Given the description of an element on the screen output the (x, y) to click on. 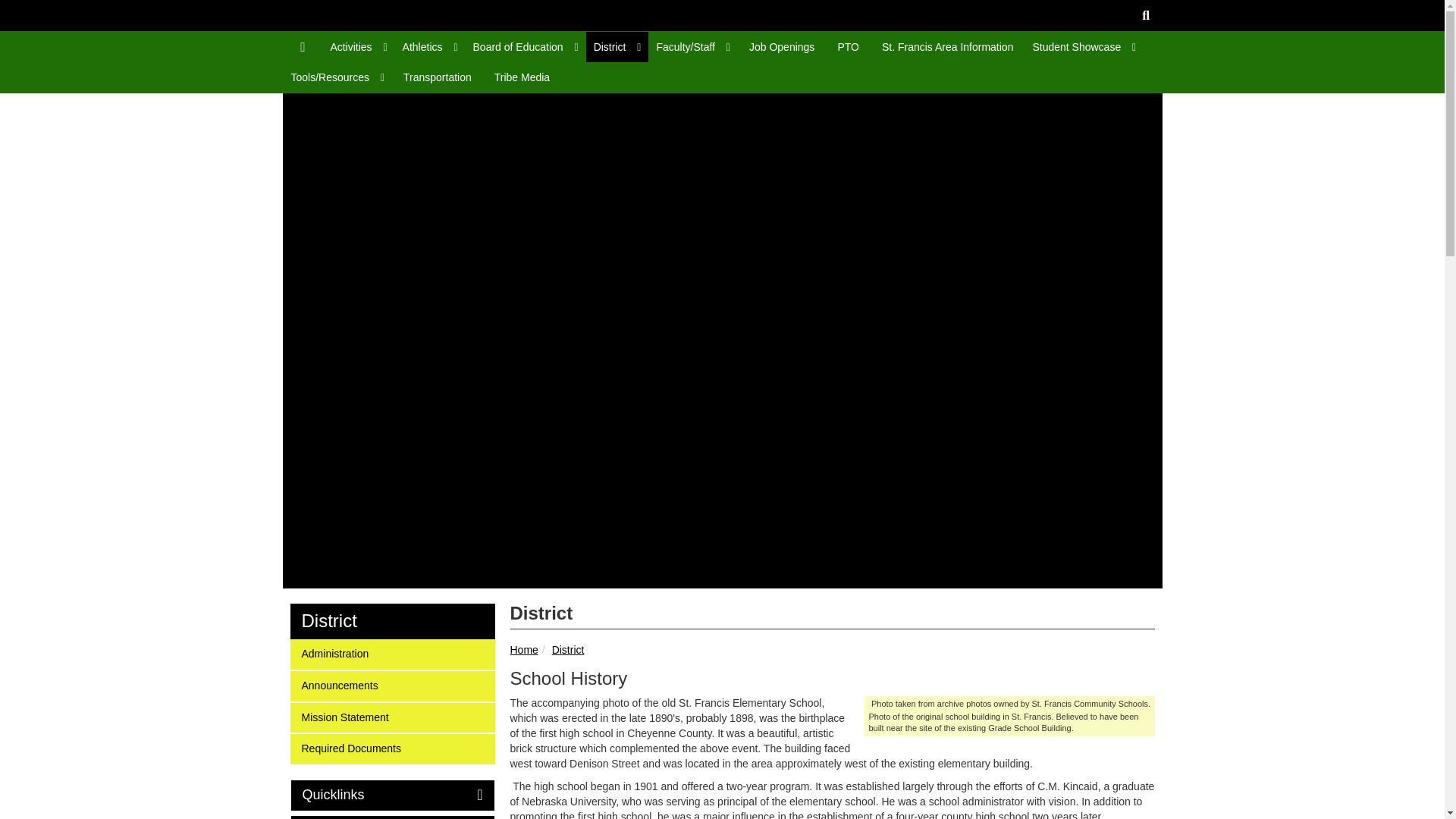
Activities (357, 46)
Search (1145, 15)
Athletics (429, 46)
Home (453, 142)
Home Link (303, 46)
